Given the description of an element on the screen output the (x, y) to click on. 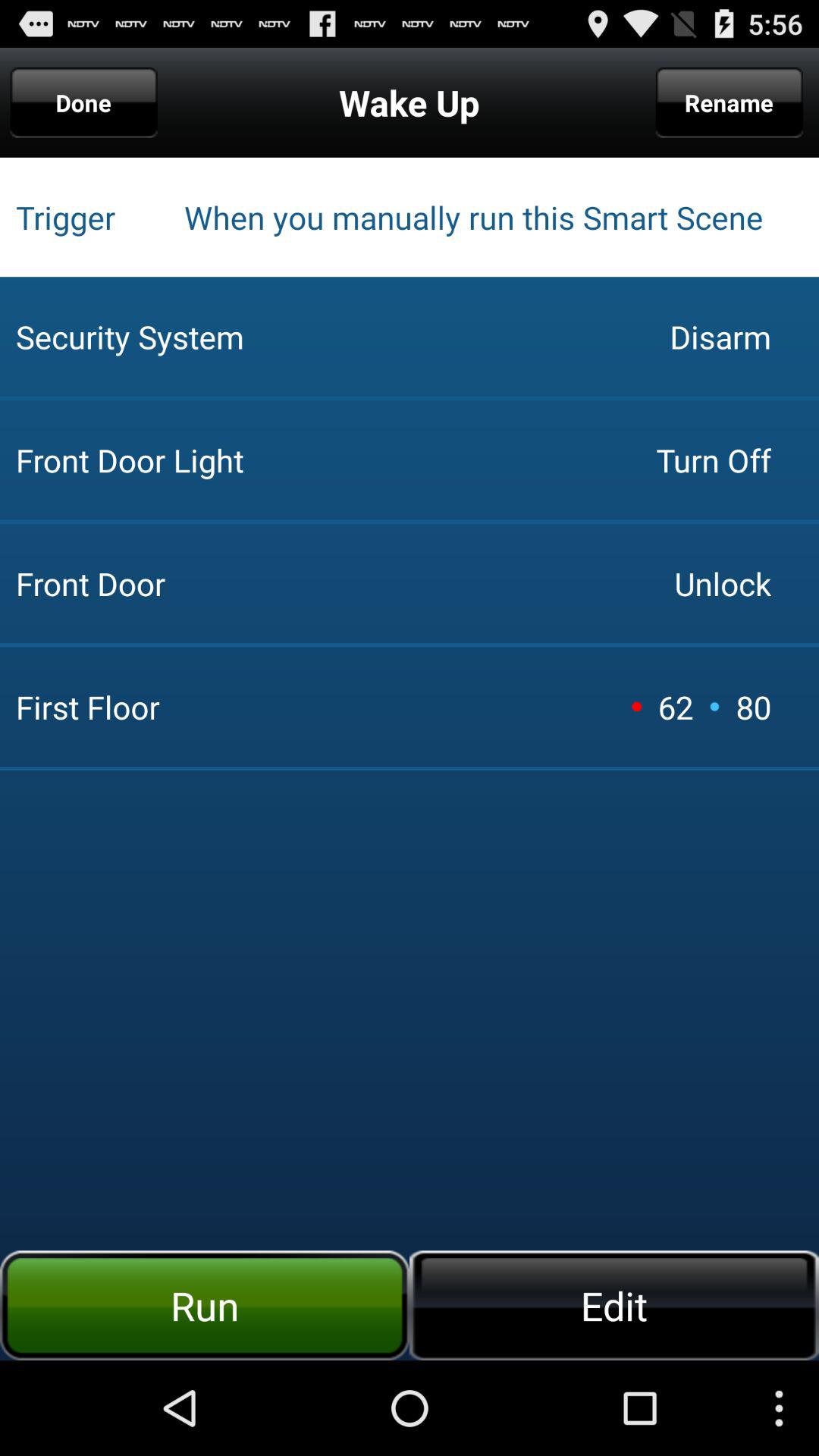
open the button above the edit (753, 706)
